Given the description of an element on the screen output the (x, y) to click on. 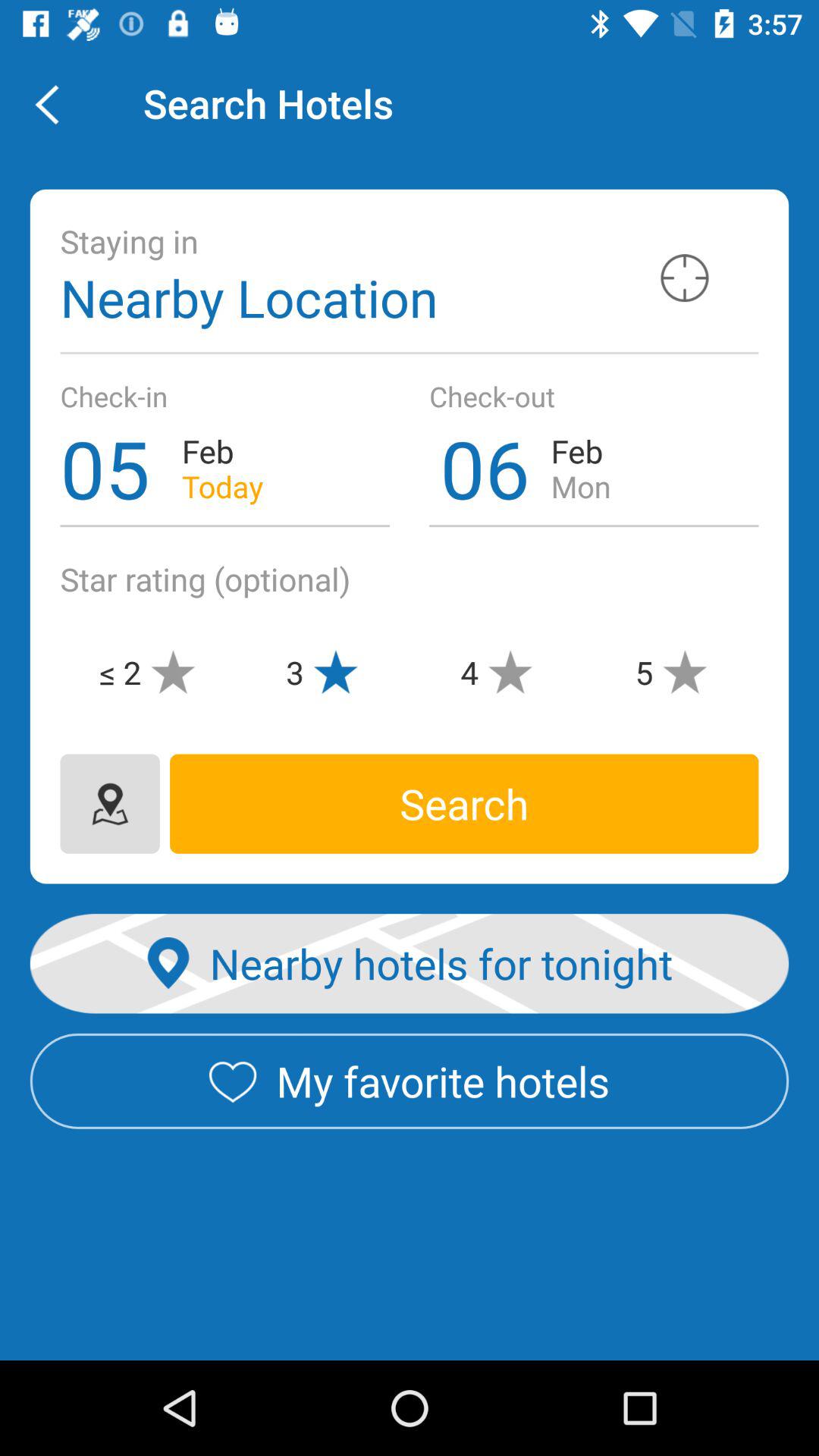
press the target (684, 278)
